Given the description of an element on the screen output the (x, y) to click on. 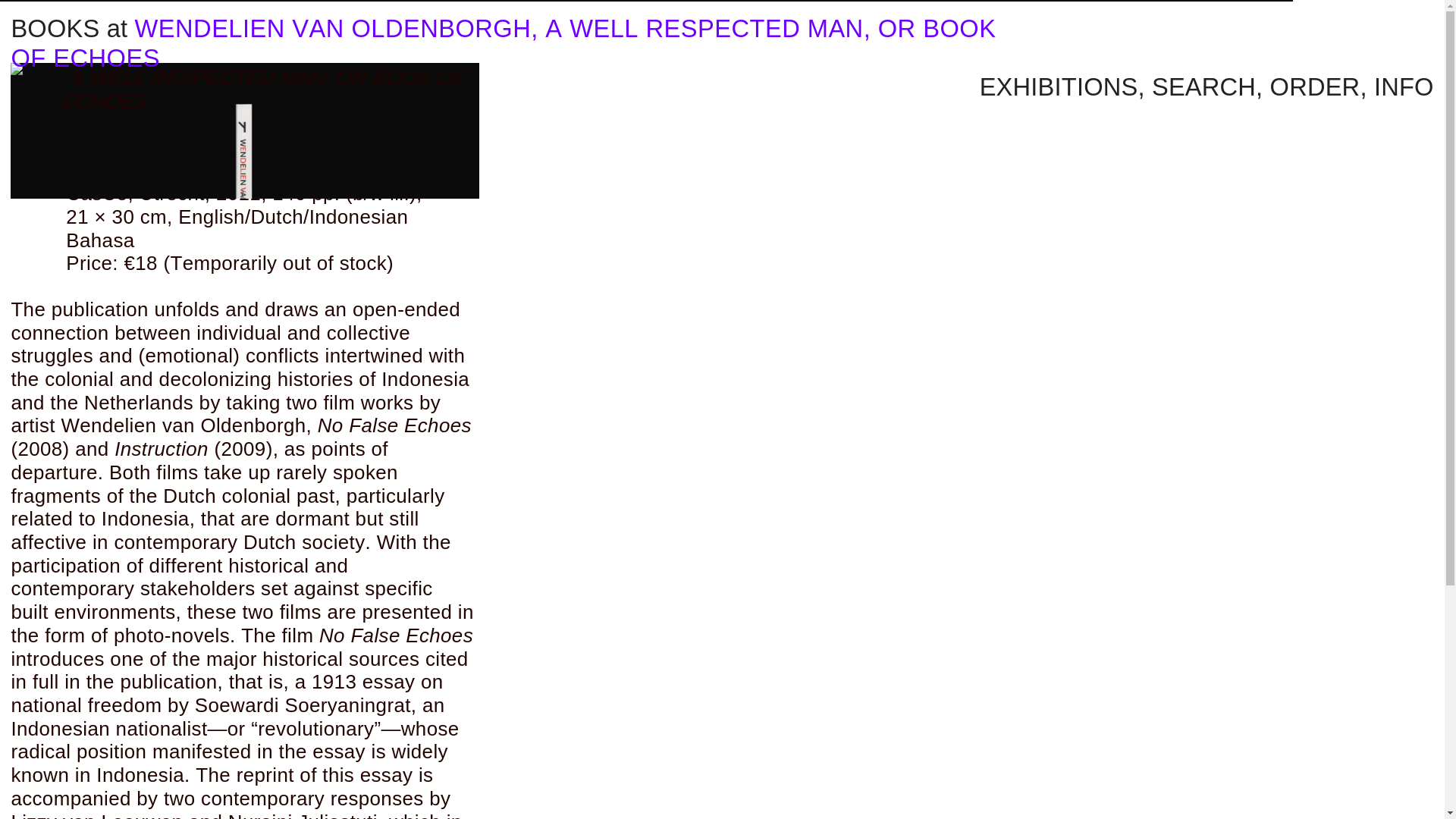
SEARCH (1203, 86)
INFO (1404, 86)
ORDER (1314, 86)
EXHIBITIONS (1058, 86)
BOOKS at (69, 28)
